Given the description of an element on the screen output the (x, y) to click on. 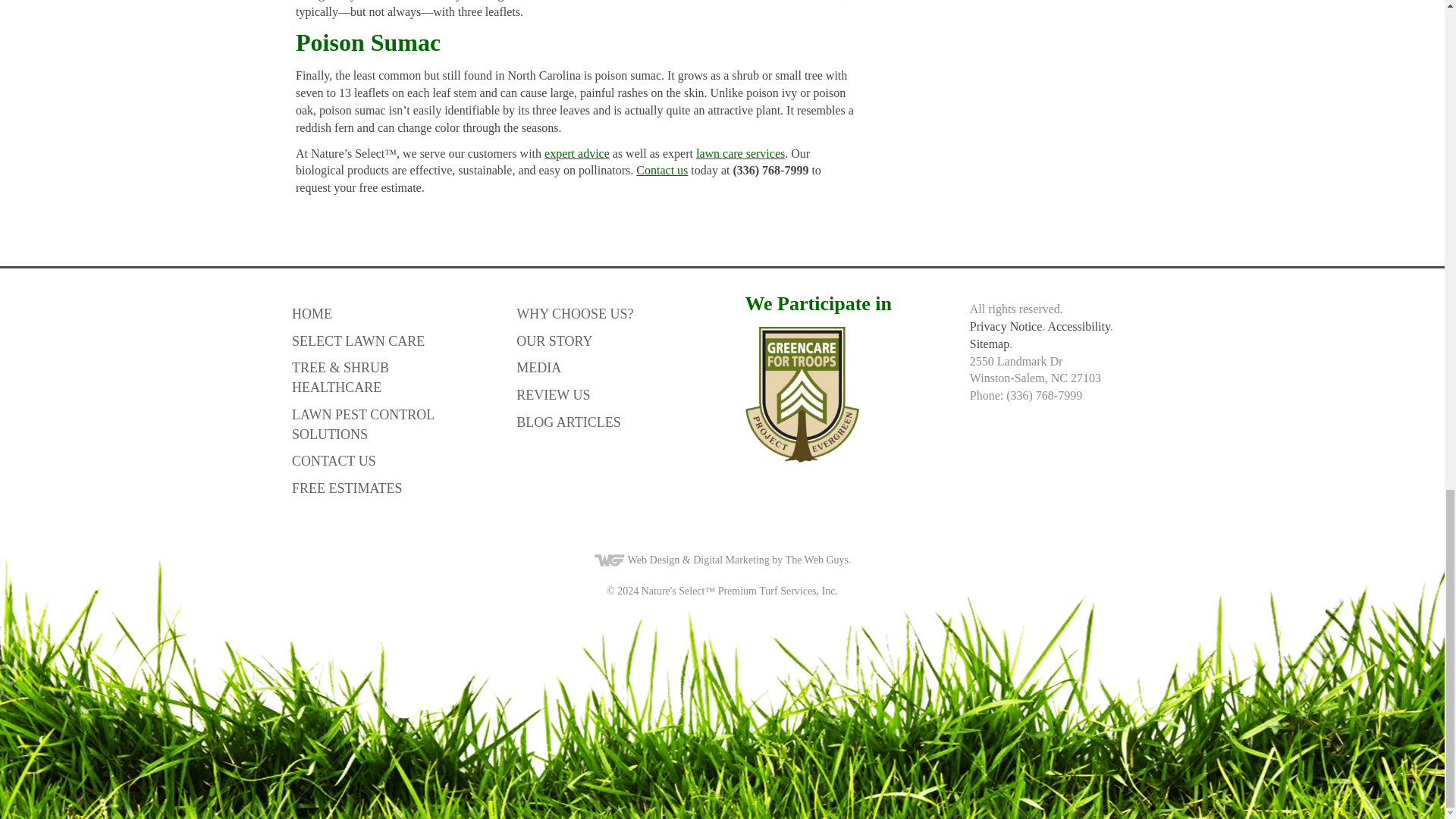
Blog Articles (609, 419)
Home (384, 310)
Contact Us (384, 457)
Free Estimates (384, 484)
Review Us (609, 391)
Why Choose Us? (609, 310)
Select Lawn Care (384, 338)
Media (609, 364)
Our Story (609, 338)
Lawn Pest Control Solutions (384, 421)
